Given the description of an element on the screen output the (x, y) to click on. 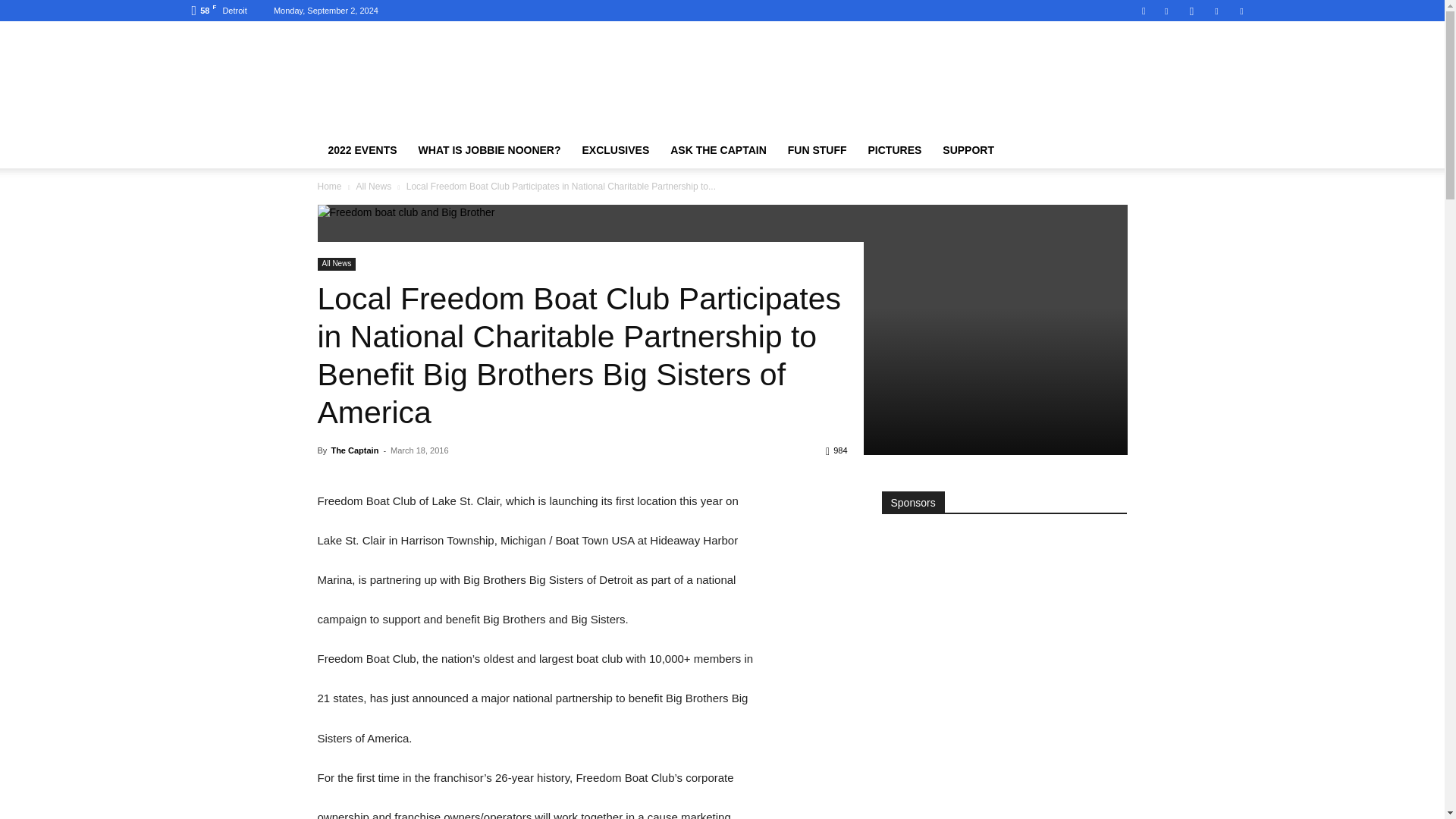
Linkedin (1216, 10)
Instagram (1190, 10)
Twitter (1241, 10)
Facebook (1165, 10)
View all posts in All News (373, 185)
